Given the description of an element on the screen output the (x, y) to click on. 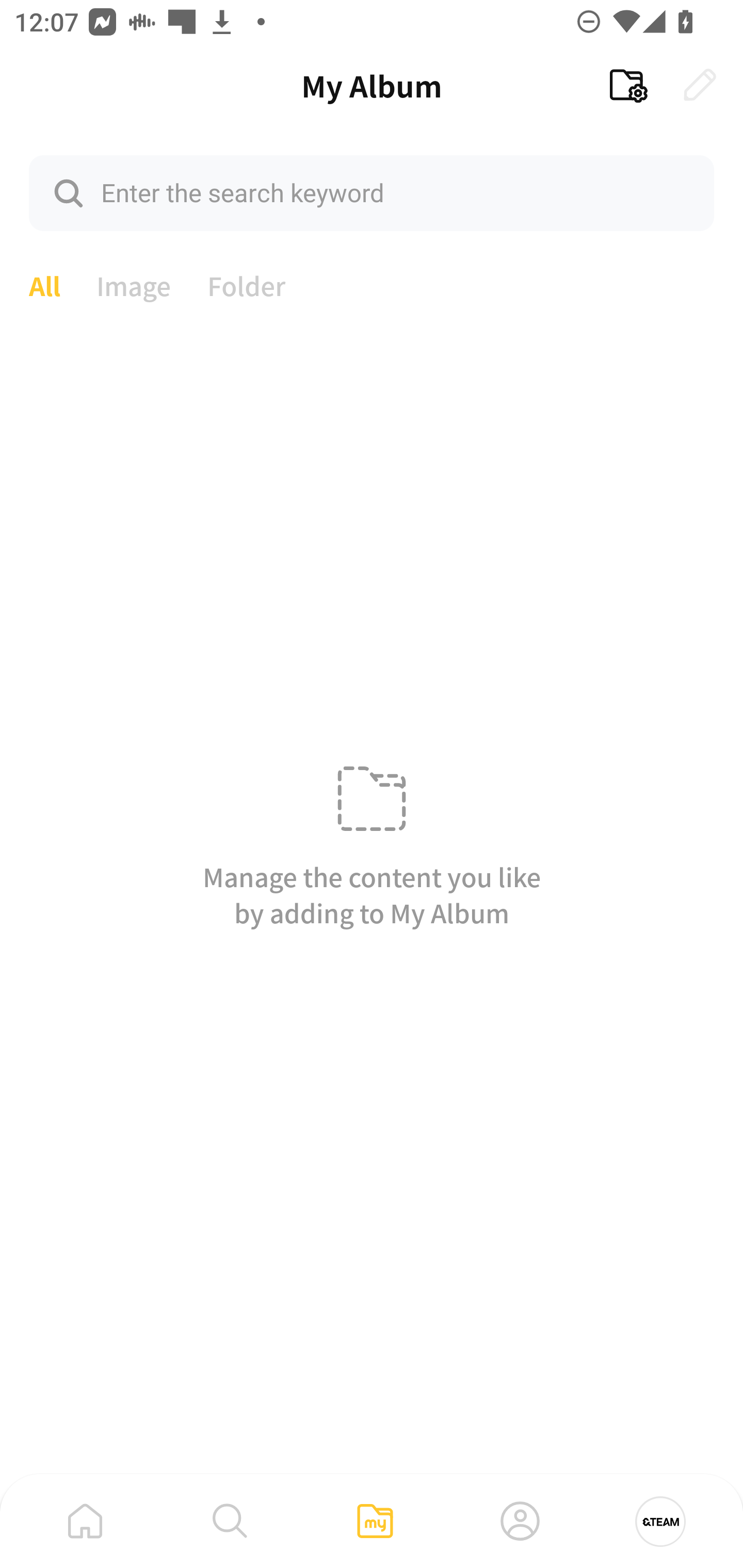
Enter the search keyword (371, 192)
All (44, 284)
Image (133, 284)
Folder (246, 284)
